Given the description of an element on the screen output the (x, y) to click on. 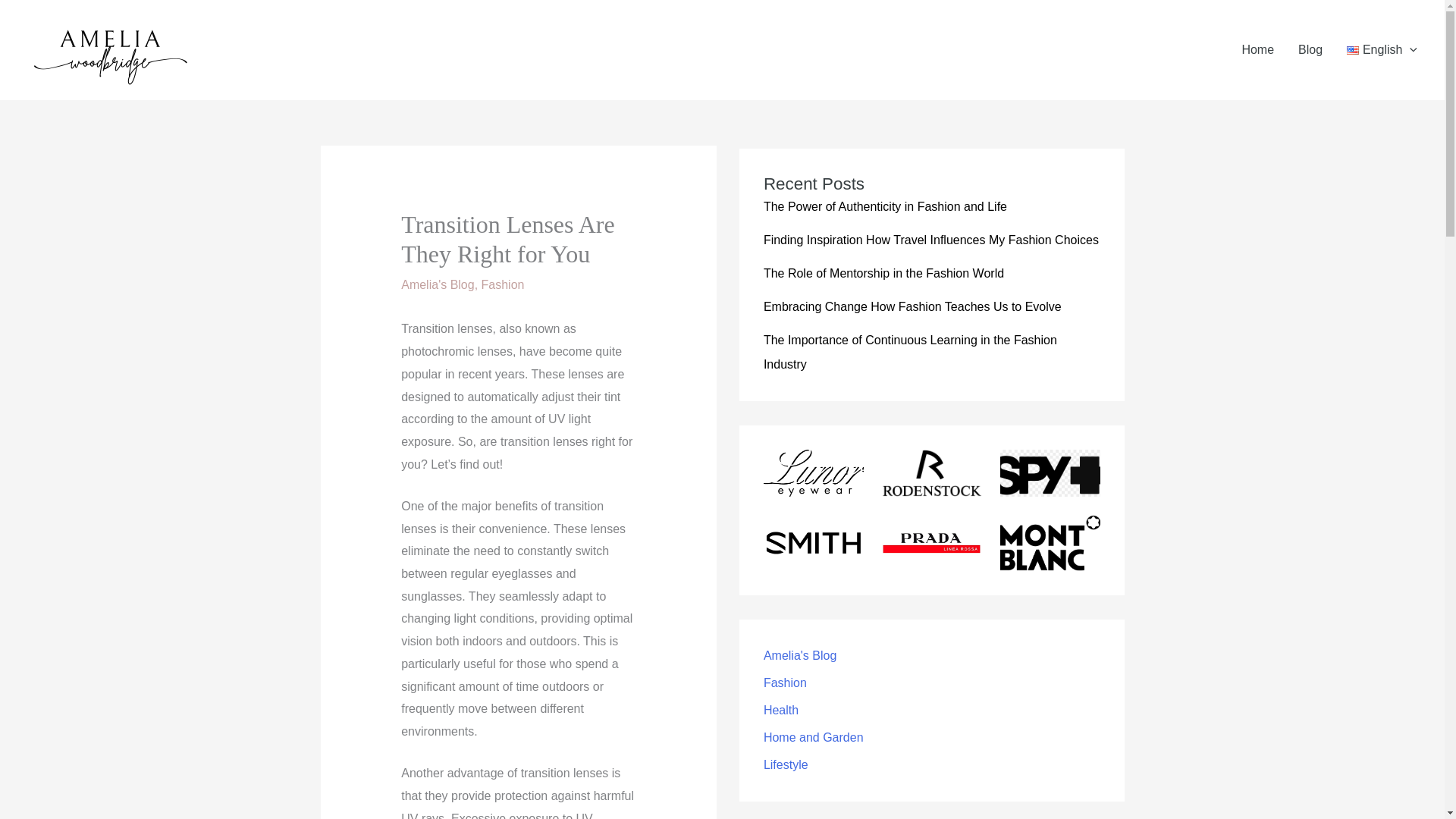
Blog (1310, 49)
Amelia's Blog (437, 284)
Fashion (502, 284)
Embracing Change How Fashion Teaches Us to Evolve (911, 306)
Home (1256, 49)
The Role of Mentorship in the Fashion World (883, 273)
The Power of Authenticity in Fashion and Life (884, 205)
English (1382, 49)
Finding Inspiration How Travel Influences My Fashion Choices (930, 239)
